Given the description of an element on the screen output the (x, y) to click on. 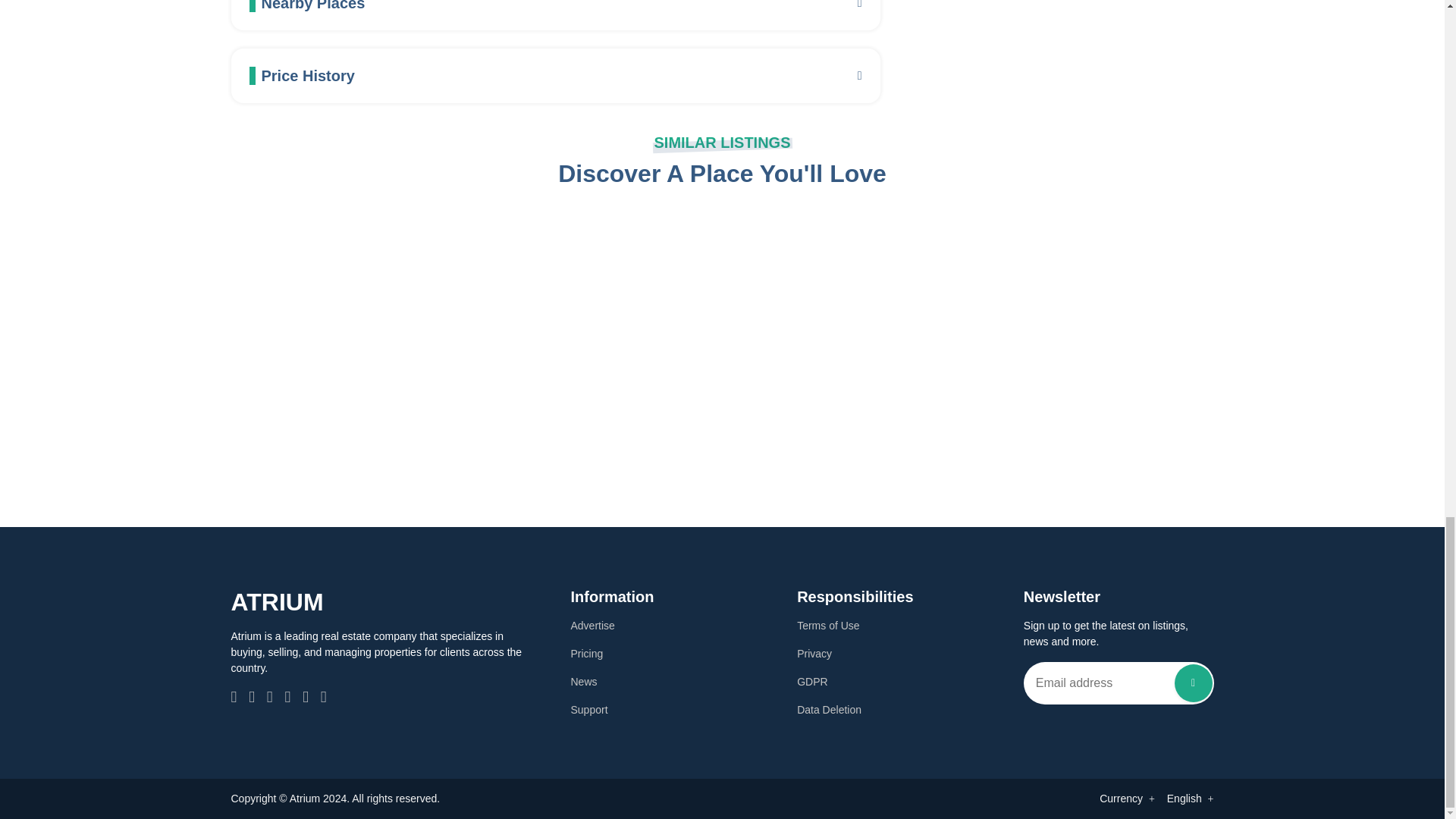
Nearby Places (554, 6)
